Given the description of an element on the screen output the (x, y) to click on. 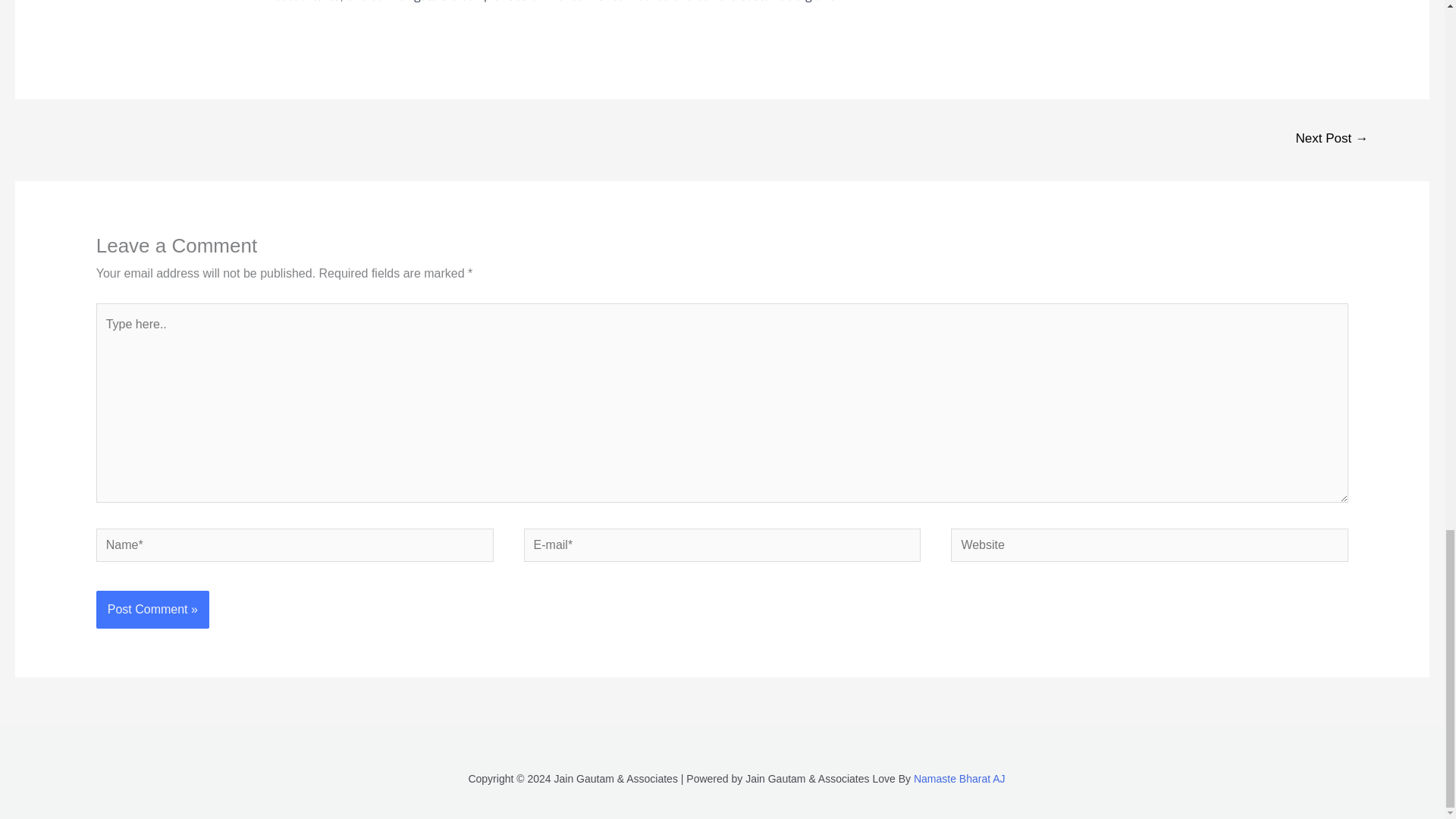
Namaste Bharat AJ (960, 778)
